Given the description of an element on the screen output the (x, y) to click on. 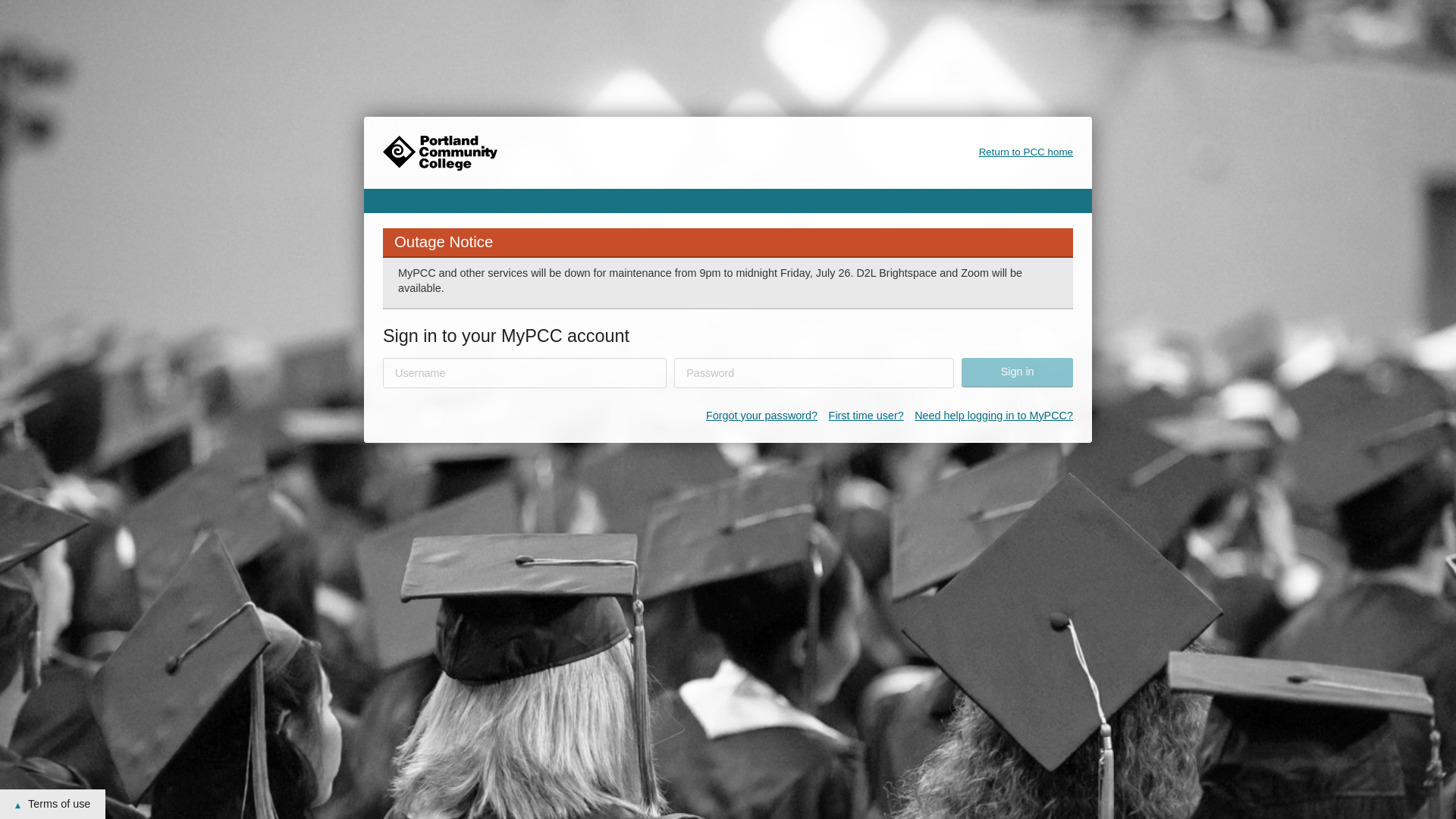
Forgot your password? (761, 415)
Need help logging in to MyPCC? (993, 415)
First time user? (866, 415)
Sign in (1016, 372)
Return to PCC home (1025, 151)
